Given the description of an element on the screen output the (x, y) to click on. 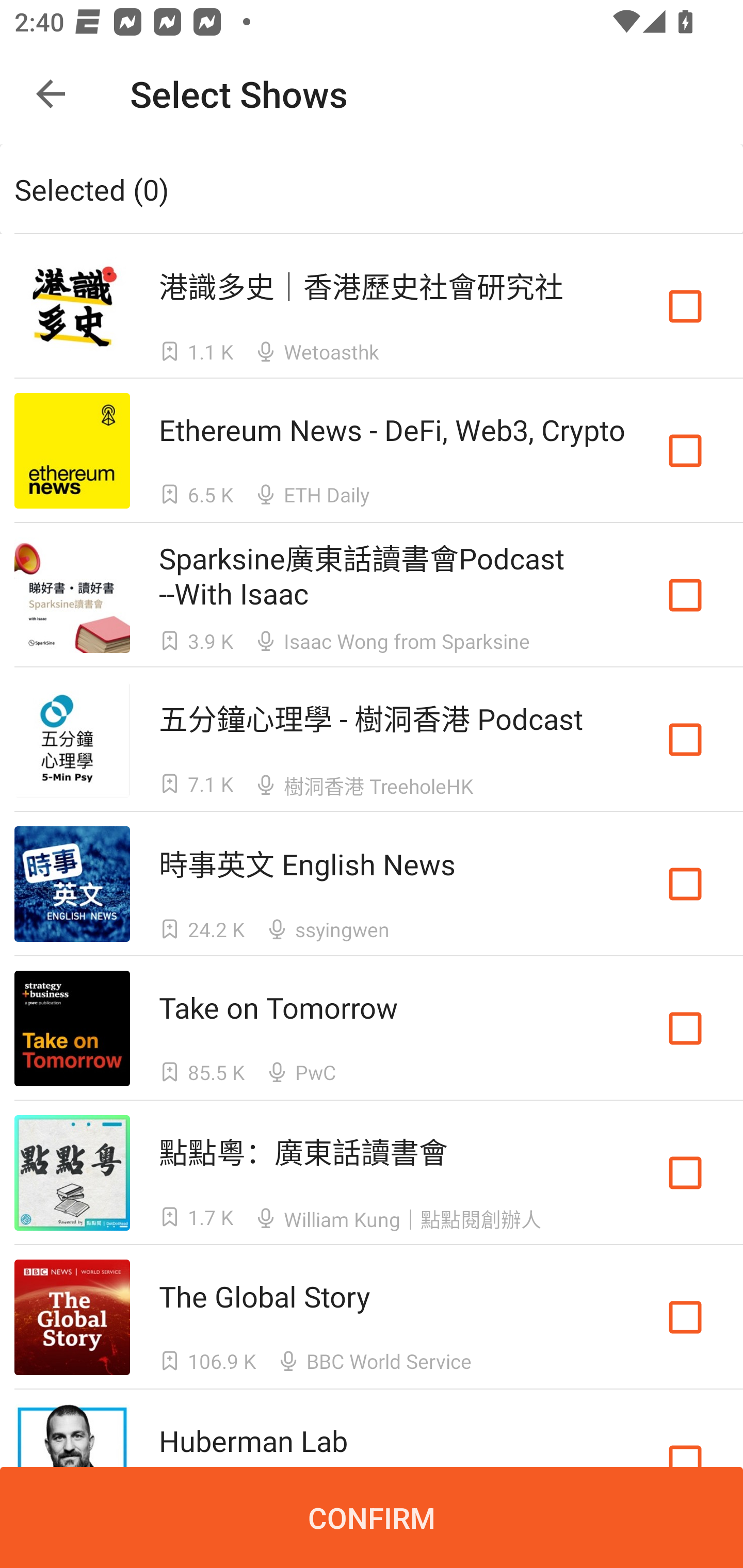
Navigate up (50, 93)
港識多史｜香港歷史社會研究社 港識多史｜香港歷史社會研究社  1.1 K  Wetoasthk (371, 305)
Take on Tomorrow Take on Tomorrow  85.5 K  PwC (371, 1028)
CONFIRM (371, 1517)
